Given the description of an element on the screen output the (x, y) to click on. 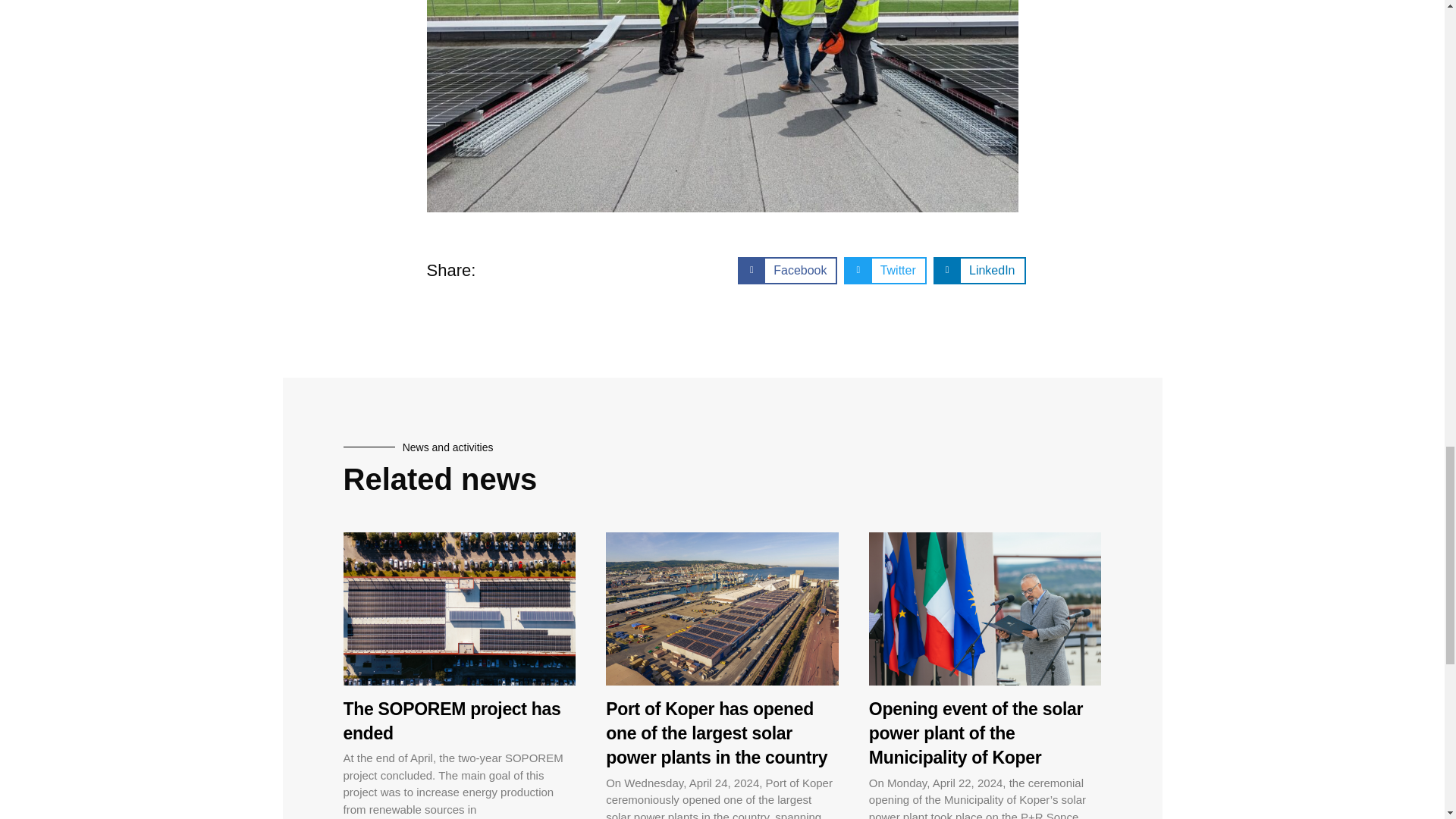
The SOPOREM project has ended (451, 720)
